Given the description of an element on the screen output the (x, y) to click on. 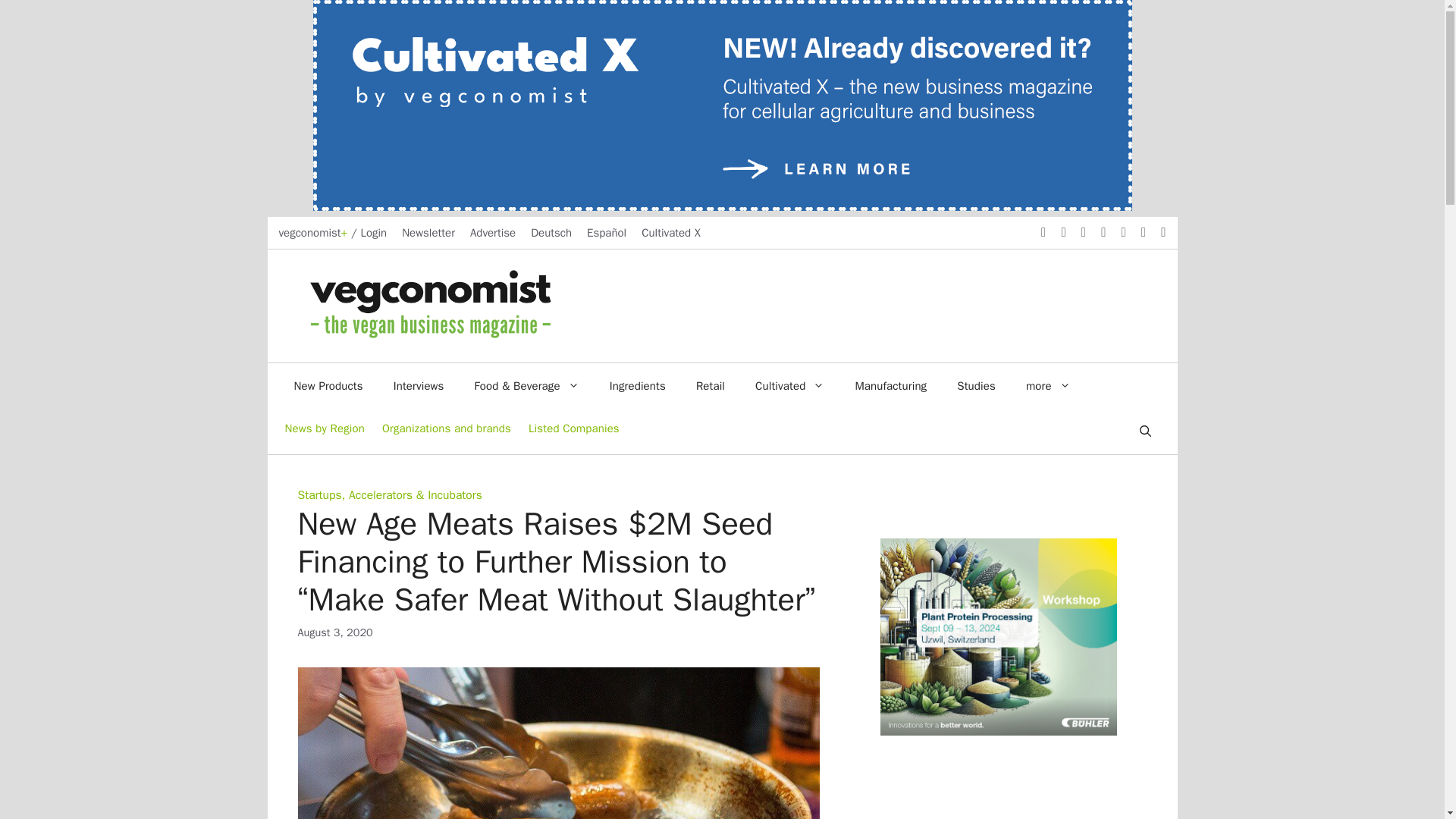
Retail (710, 385)
Interviews (419, 385)
Manufacturing (891, 385)
more (1048, 385)
Ingredients (637, 385)
Cultivated (789, 385)
Studies (976, 385)
Advertise (492, 232)
Cultivated X (671, 232)
New Products (328, 385)
Newsletter (427, 232)
Deutsch (551, 232)
